Given the description of an element on the screen output the (x, y) to click on. 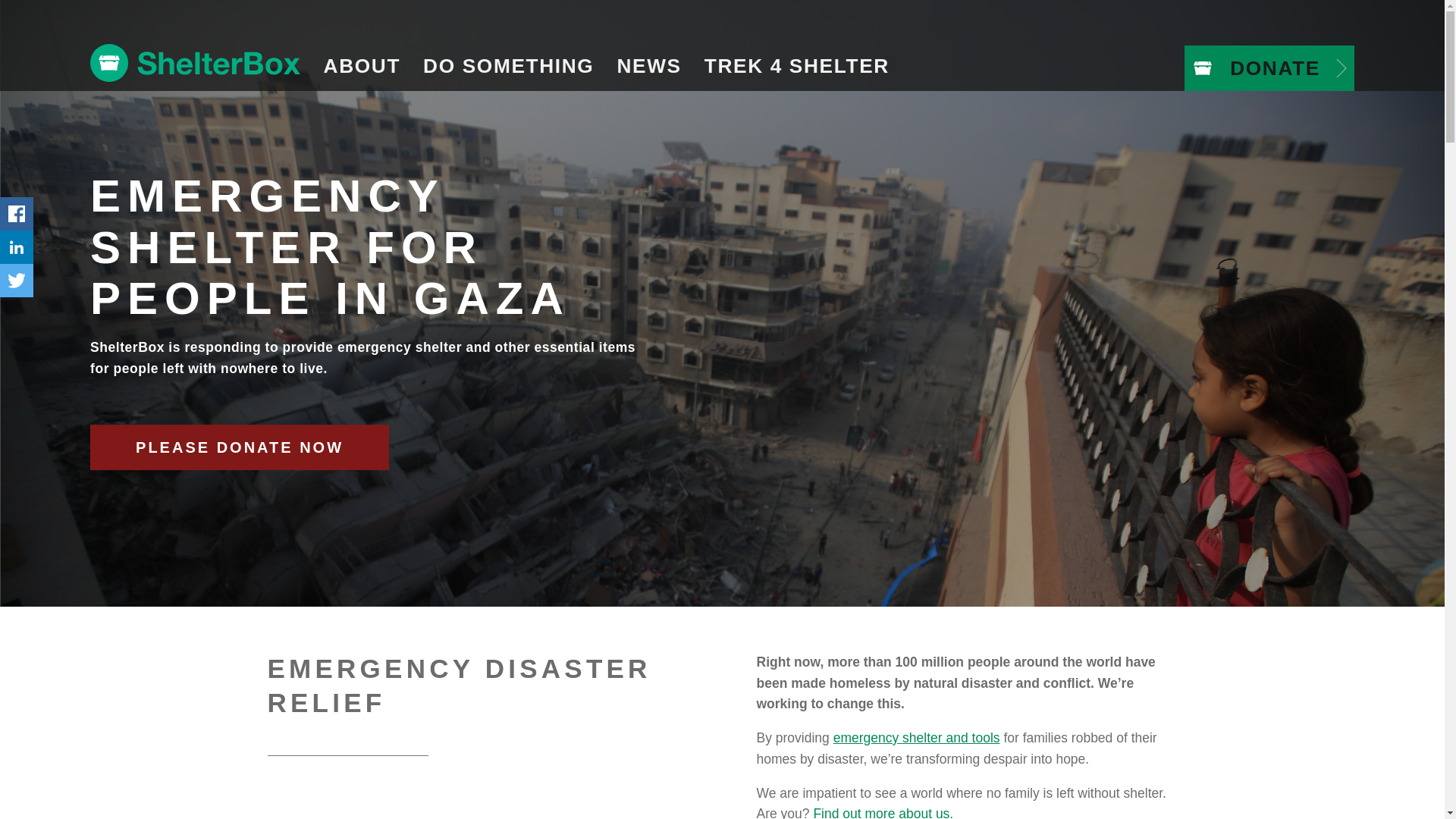
DONATE (1269, 67)
ABOUT (362, 65)
Home (195, 62)
emergency shelter and tools (916, 737)
NEWS (649, 65)
DO SOMETHING (508, 65)
Find out more about us. (882, 812)
TREK 4 SHELTER (797, 65)
PLEASE DONATE NOW (239, 447)
